Given the description of an element on the screen output the (x, y) to click on. 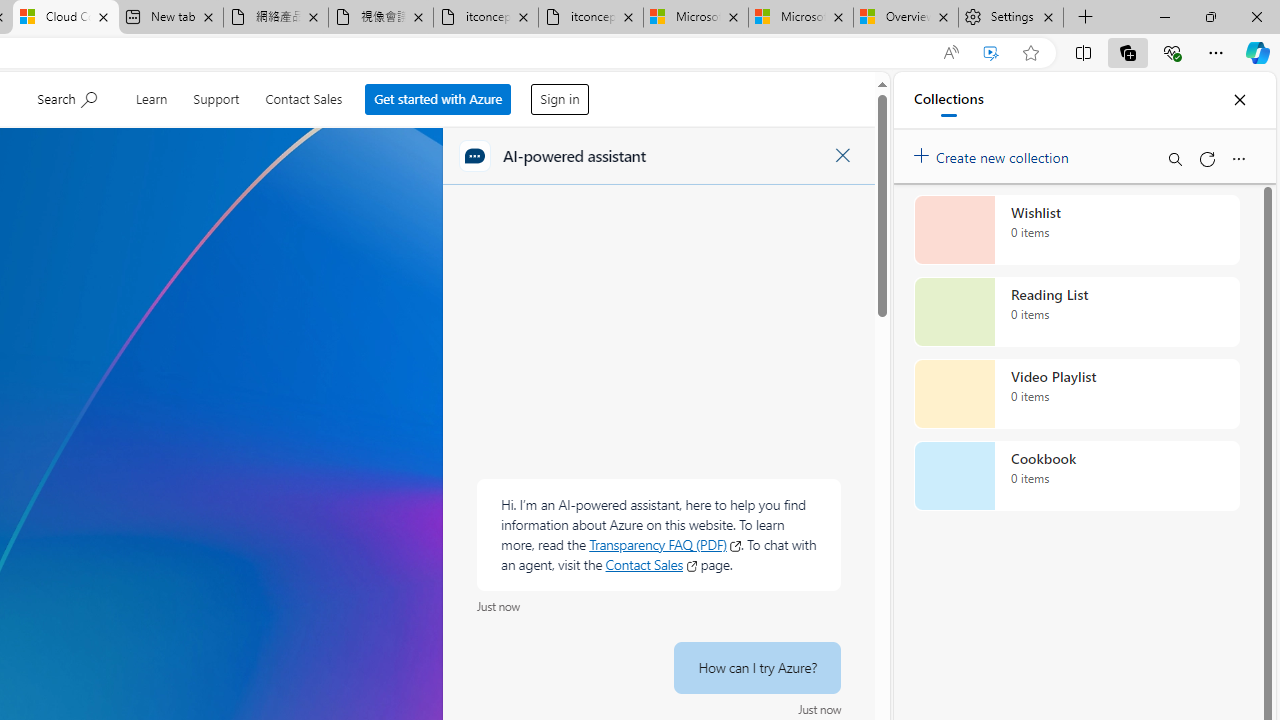
Sign in (559, 93)
Overview (905, 17)
Sign in (559, 99)
Support (216, 96)
Learn (150, 96)
Contact Sales (304, 96)
Learn (150, 96)
